Given the description of an element on the screen output the (x, y) to click on. 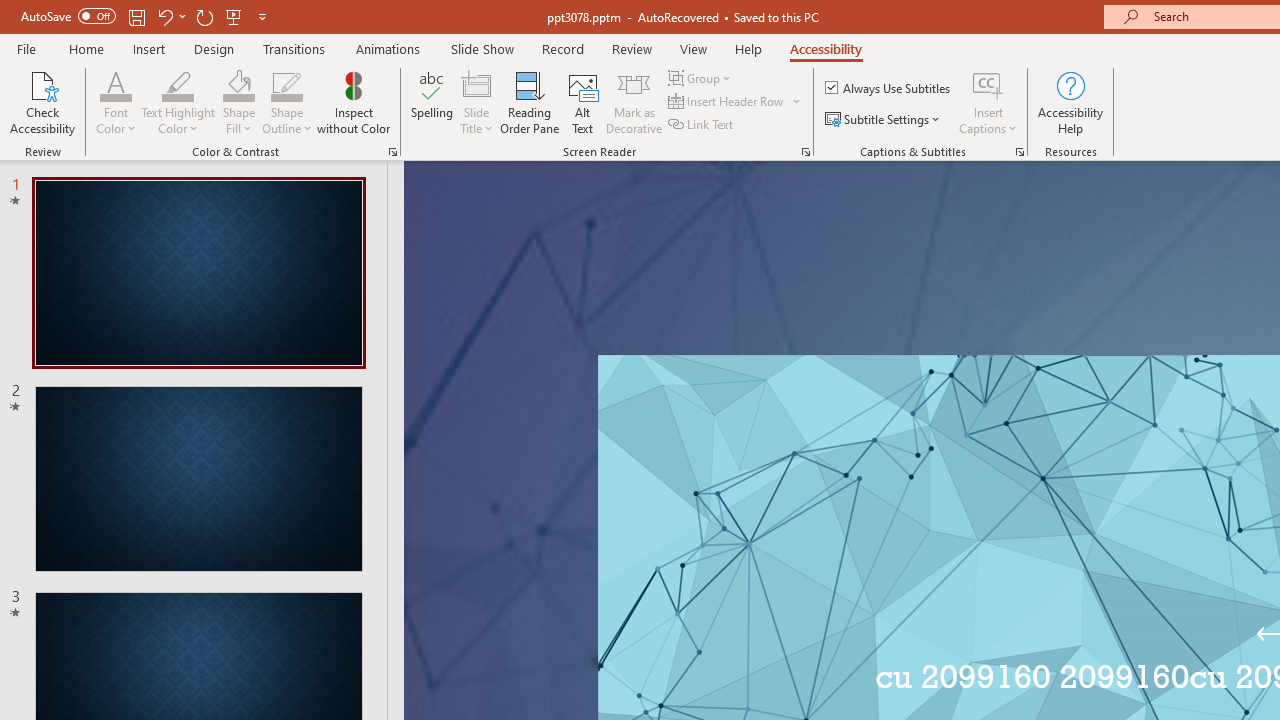
Always Use Subtitles (889, 87)
Group (701, 78)
Accessibility Help (1070, 102)
Slide Title (476, 102)
